Given the description of an element on the screen output the (x, y) to click on. 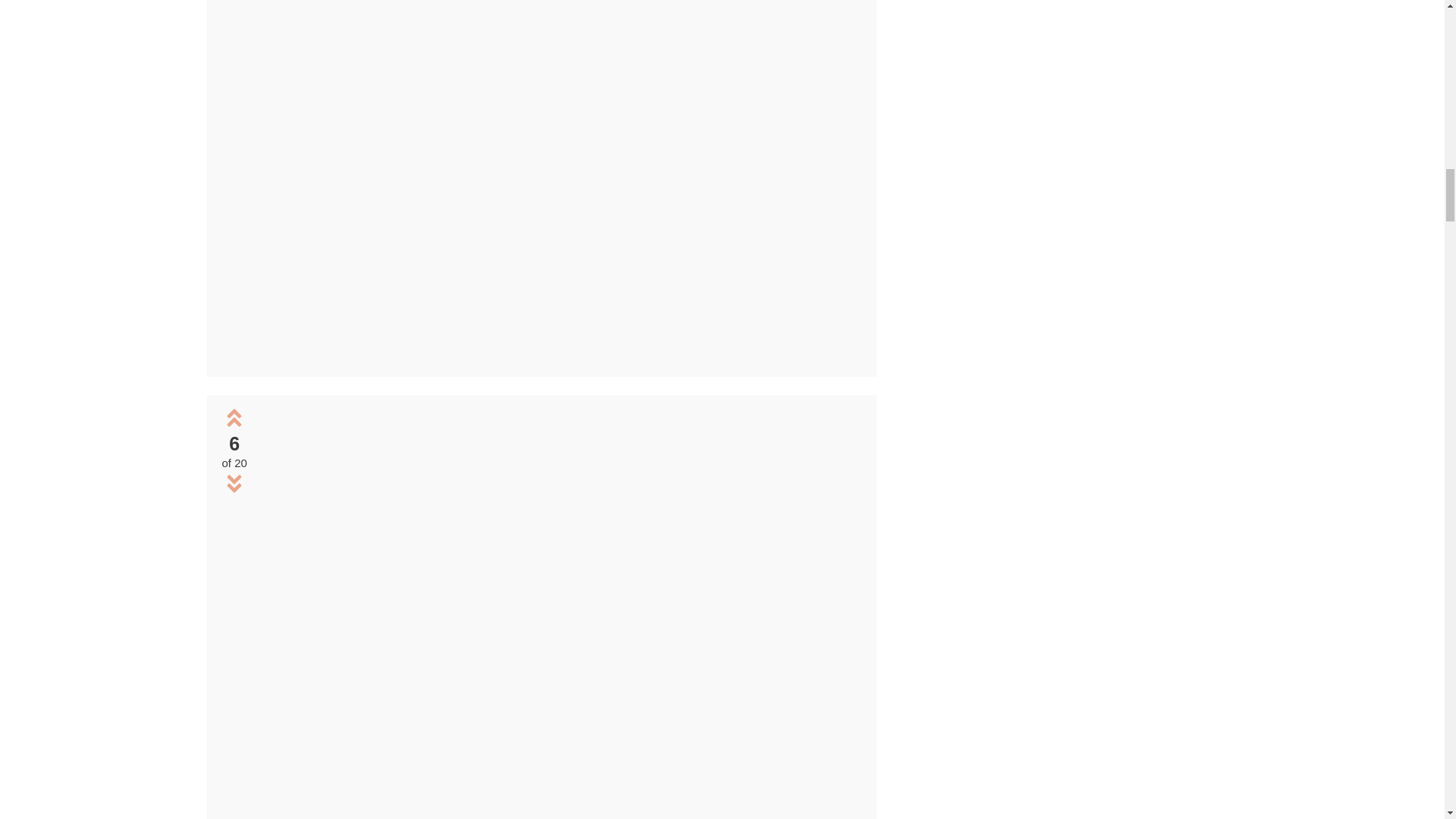
Vera Wang Spring 2015 Wedding Dress Collection (559, 355)
